Given the description of an element on the screen output the (x, y) to click on. 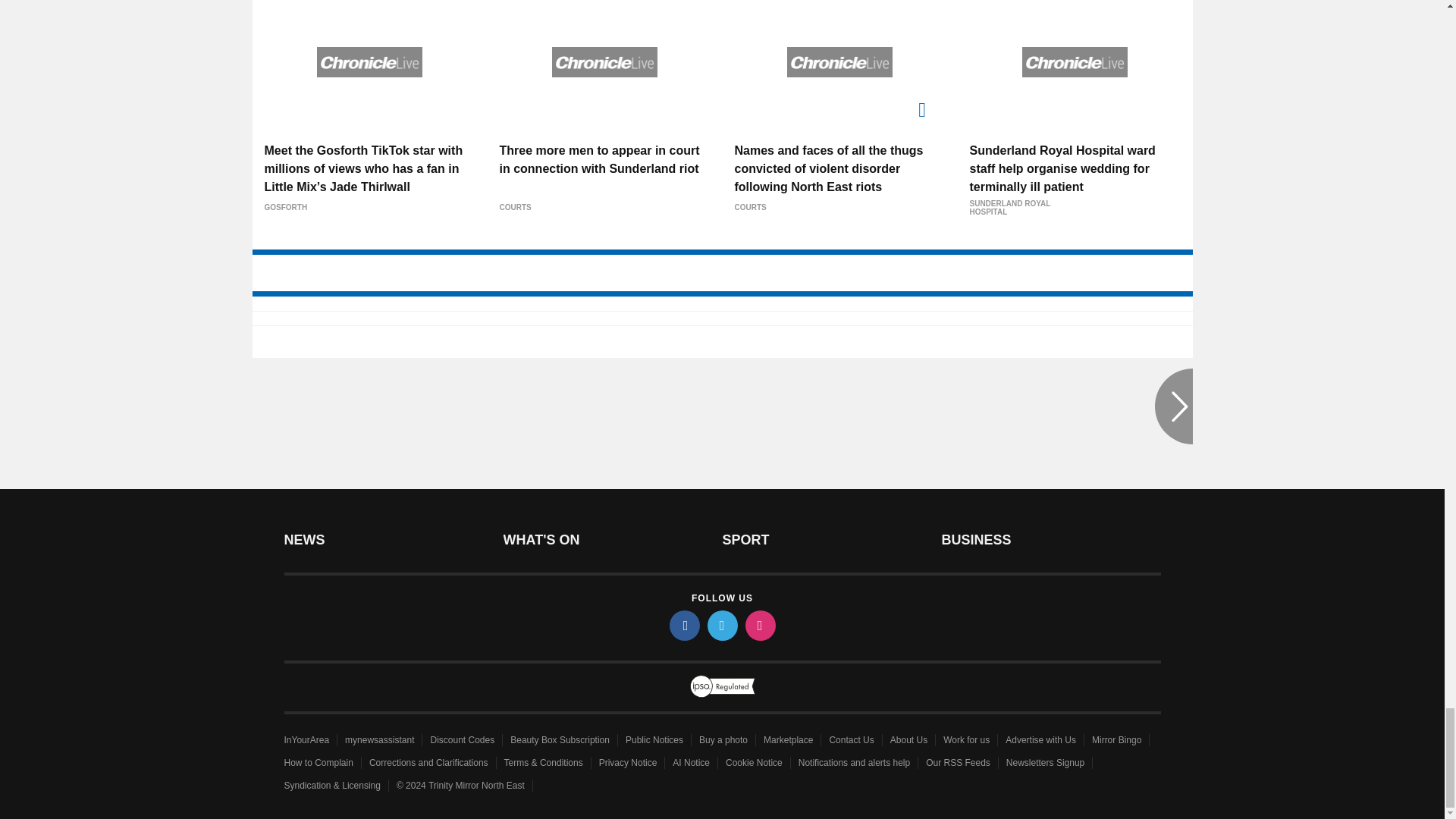
facebook (683, 625)
instagram (759, 625)
twitter (721, 625)
